Given the description of an element on the screen output the (x, y) to click on. 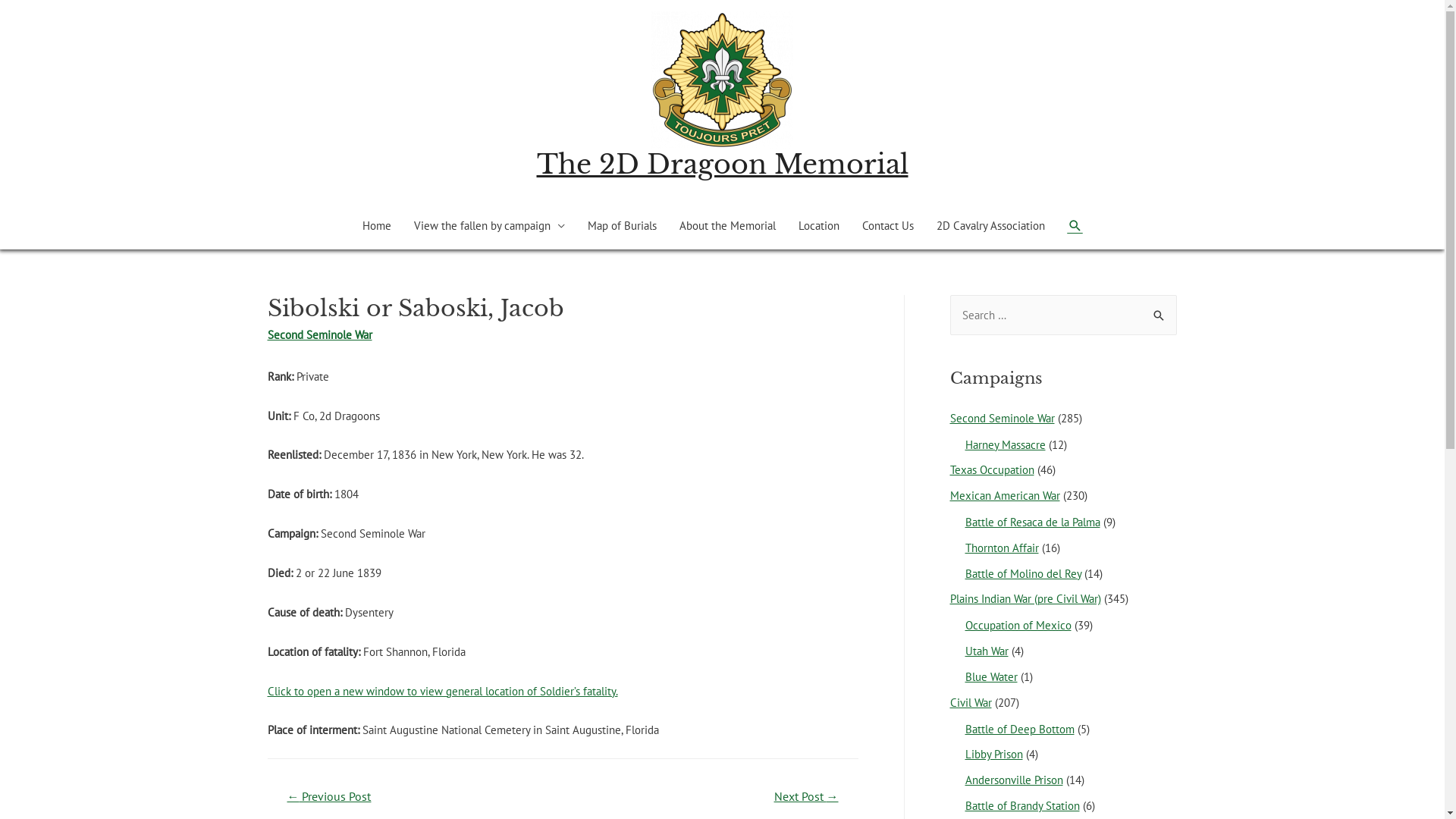
Contact Us Element type: text (887, 225)
Battle of Resaca de la Palma Element type: text (1031, 521)
Libby Prison Element type: text (993, 753)
Andersonville Prison Element type: text (1013, 779)
Occupation of Mexico Element type: text (1017, 625)
Search Element type: text (1159, 310)
The 2D Dragoon Memorial Element type: text (722, 163)
Blue Water Element type: text (990, 676)
Mexican American War Element type: text (1004, 495)
2D Cavalry Association Element type: text (990, 225)
Second Seminole War Element type: text (318, 334)
Battle of Deep Bottom Element type: text (1018, 728)
Utah War Element type: text (985, 650)
Thornton Affair Element type: text (1001, 547)
Map of Burials Element type: text (622, 225)
Home Element type: text (375, 225)
View the fallen by campaign Element type: text (488, 225)
Texas Occupation Element type: text (991, 469)
Civil War Element type: text (970, 701)
Location Element type: text (818, 225)
About the Memorial Element type: text (726, 225)
Second Seminole War Element type: text (1001, 418)
Harney Massacre Element type: text (1004, 443)
Battle of Molino del Rey Element type: text (1022, 572)
Battle of Brandy Station Element type: text (1021, 805)
Plains Indian War (pre Civil War) Element type: text (1024, 598)
